Given the description of an element on the screen output the (x, y) to click on. 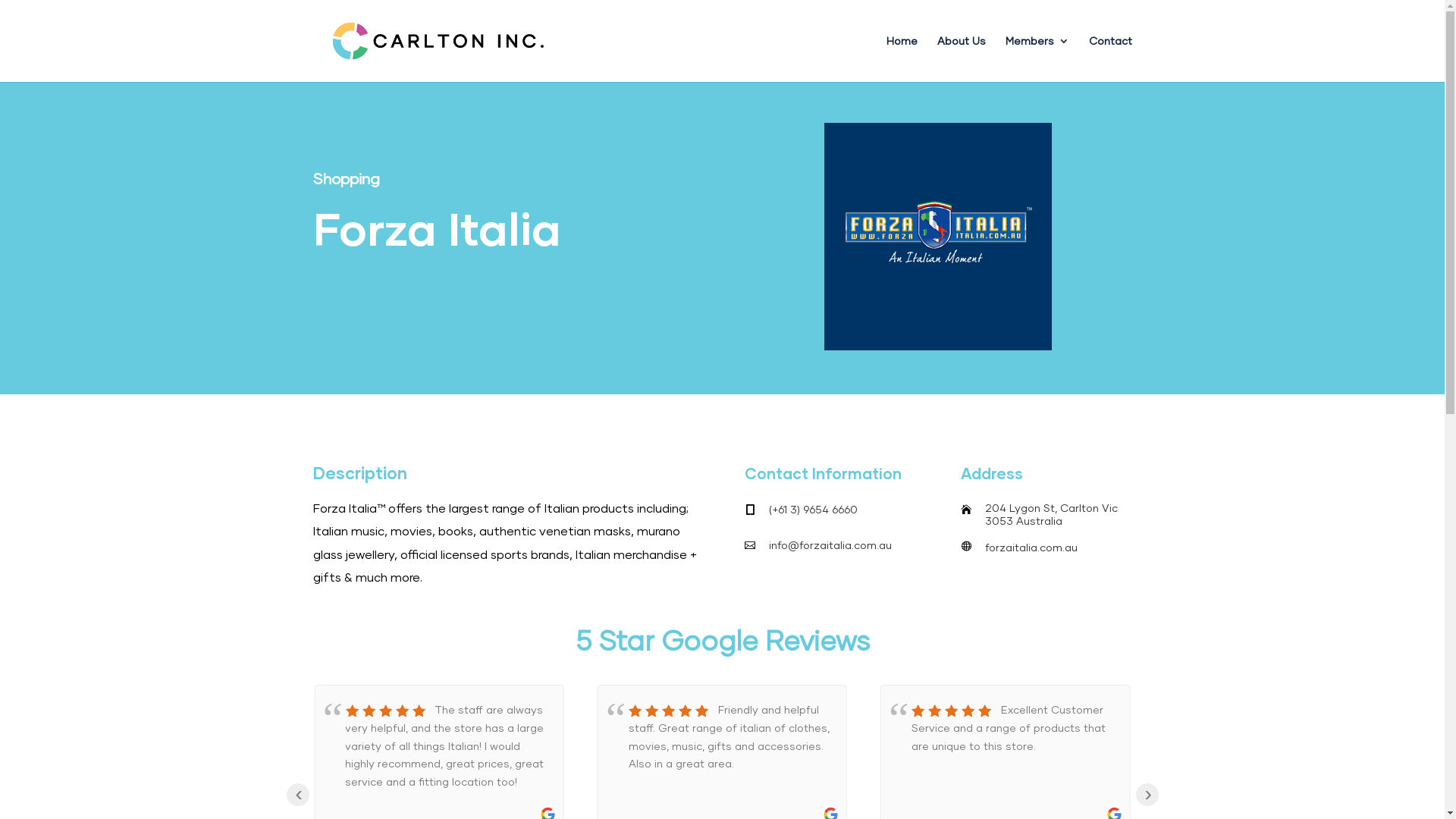
forzaitalia.com.au Element type: text (1031, 546)
Shopping Element type: text (345, 178)
info@forzaitalia.com.au Element type: text (829, 544)
Contact Element type: text (1110, 58)
Home Element type: text (900, 58)
About Us Element type: text (961, 58)
Members Element type: text (1037, 58)
